Given the description of an element on the screen output the (x, y) to click on. 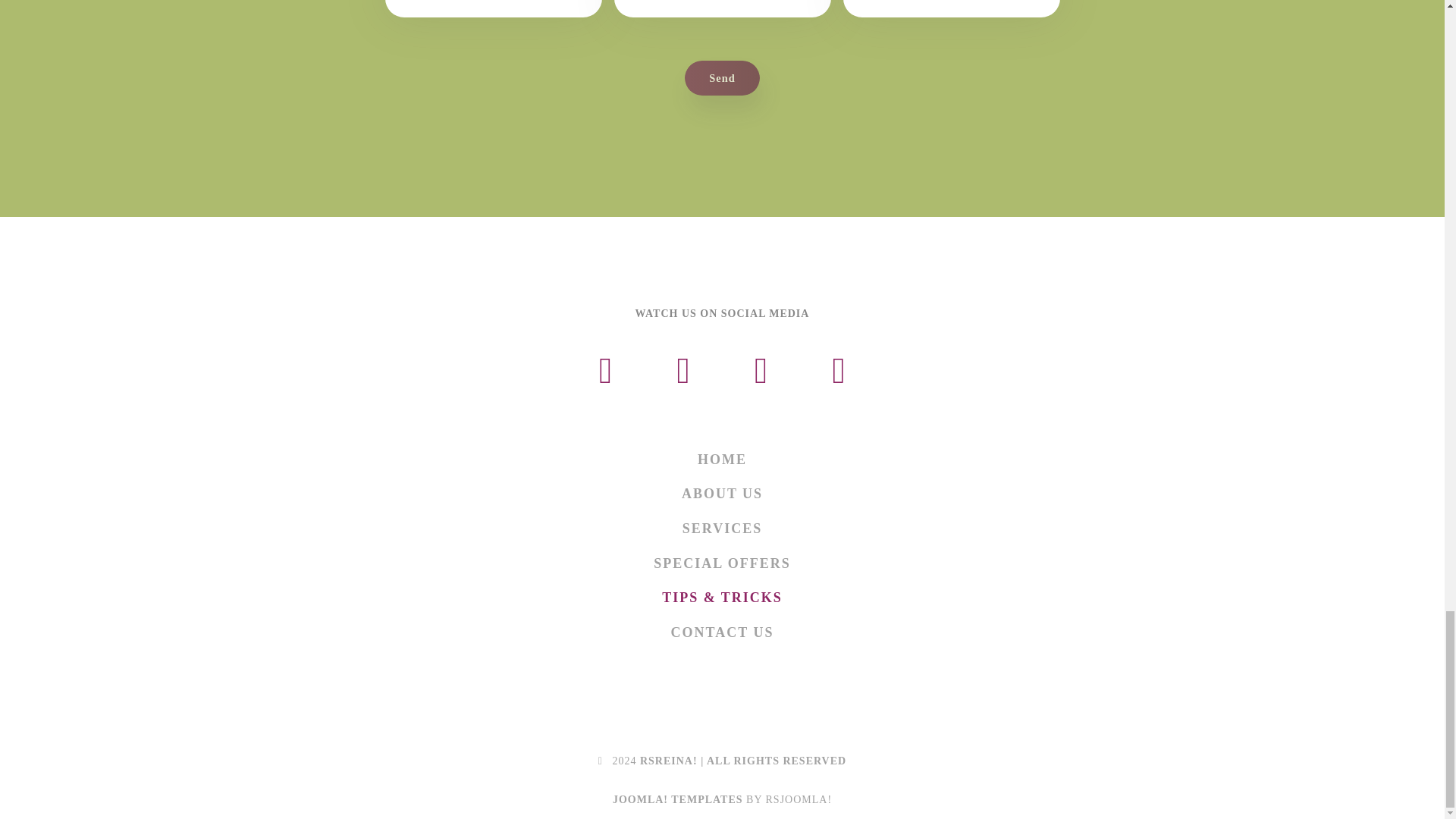
Joomla! Templates (677, 799)
HOME (721, 459)
Send (722, 77)
ABOUT US (721, 494)
SERVICES (721, 529)
